Given the description of an element on the screen output the (x, y) to click on. 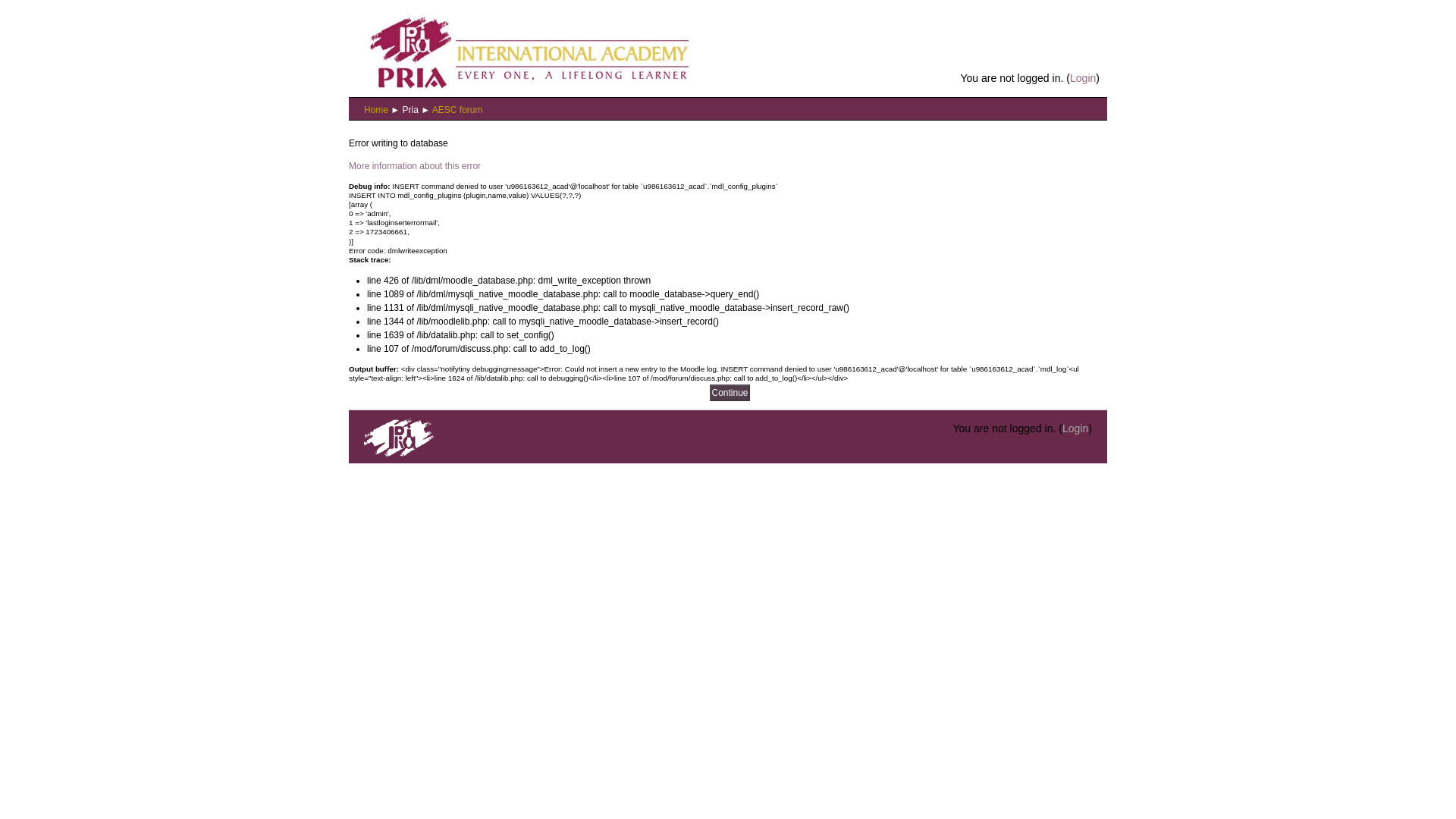
Login (1083, 78)
Home (376, 109)
Continue (729, 392)
Pria Academy (411, 109)
Continue (729, 392)
Moodle (399, 452)
Forum (457, 109)
AESC forum (457, 109)
Home (525, 50)
Login (1074, 428)
